Given the description of an element on the screen output the (x, y) to click on. 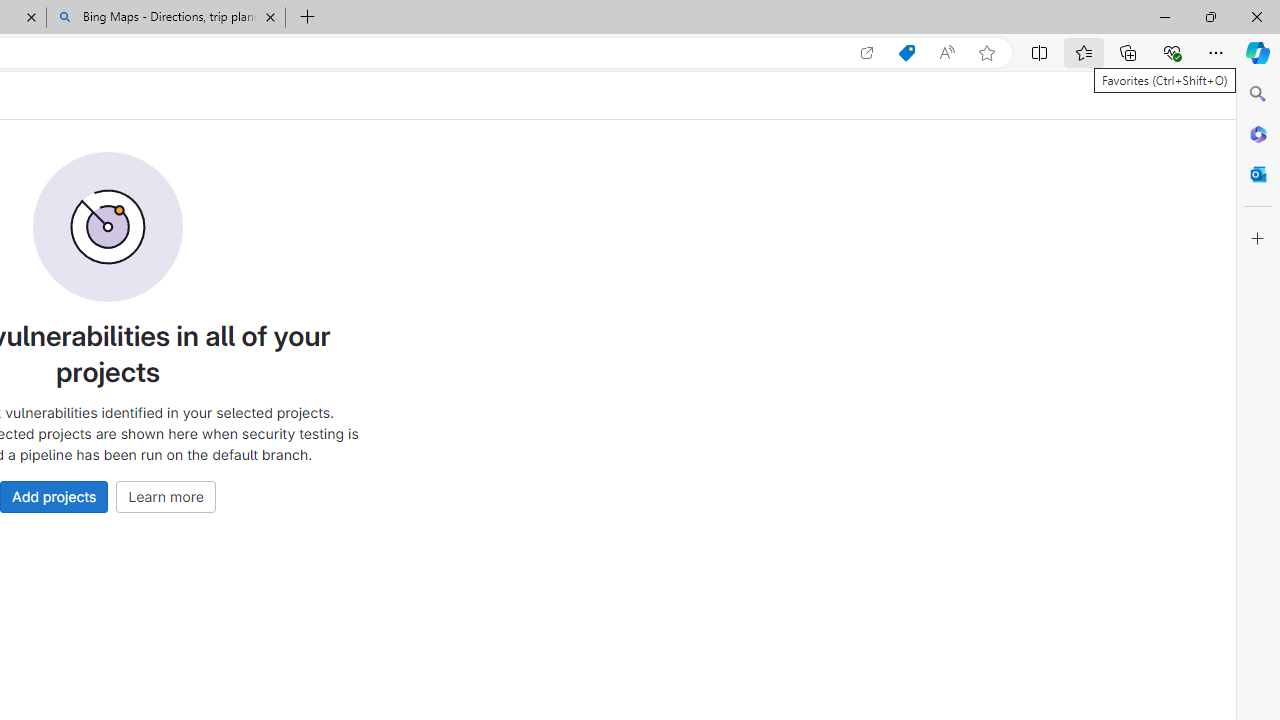
Open in app (867, 53)
